Given the description of an element on the screen output the (x, y) to click on. 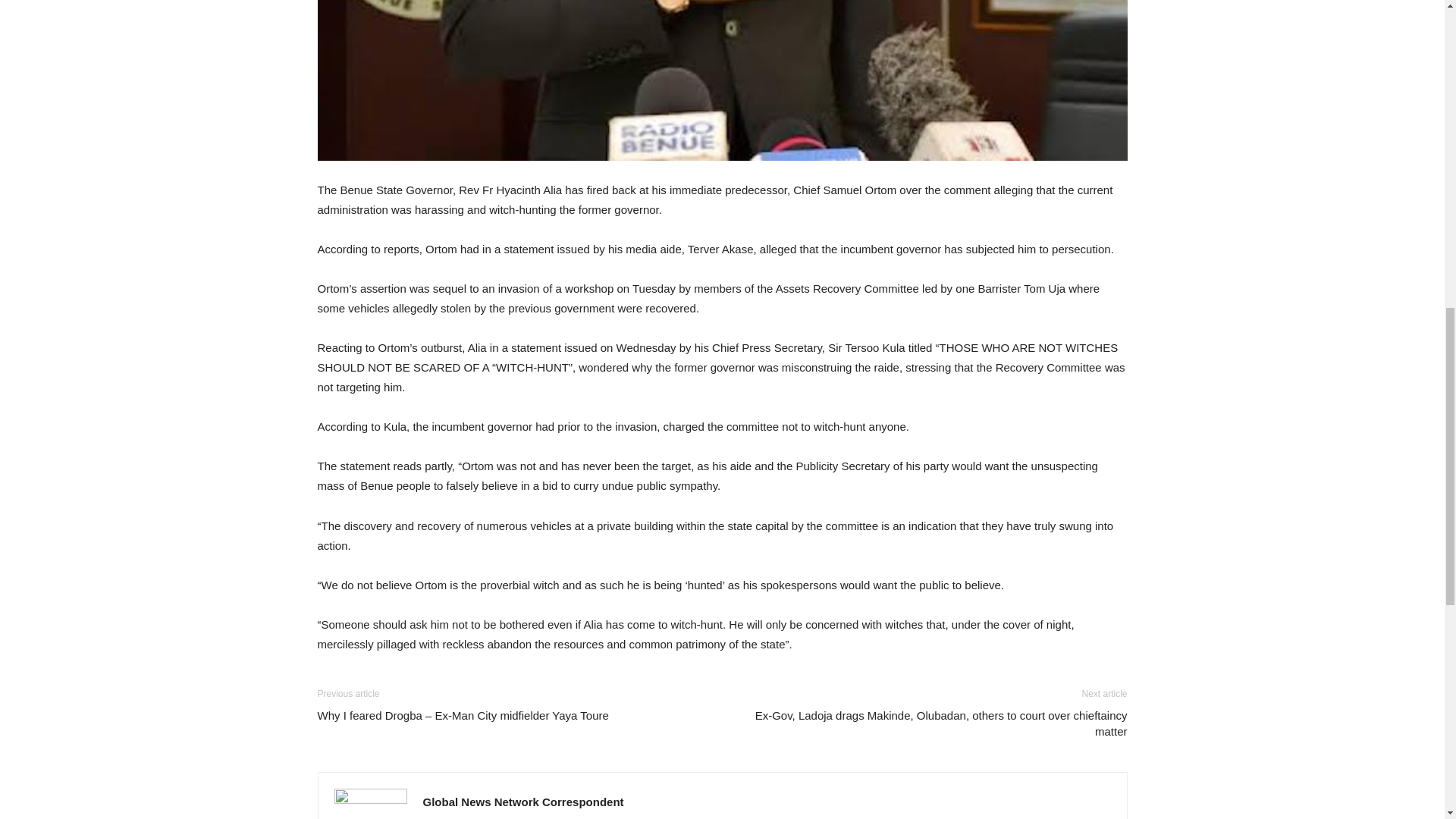
Global News Network Correspondent (523, 801)
